Given the description of an element on the screen output the (x, y) to click on. 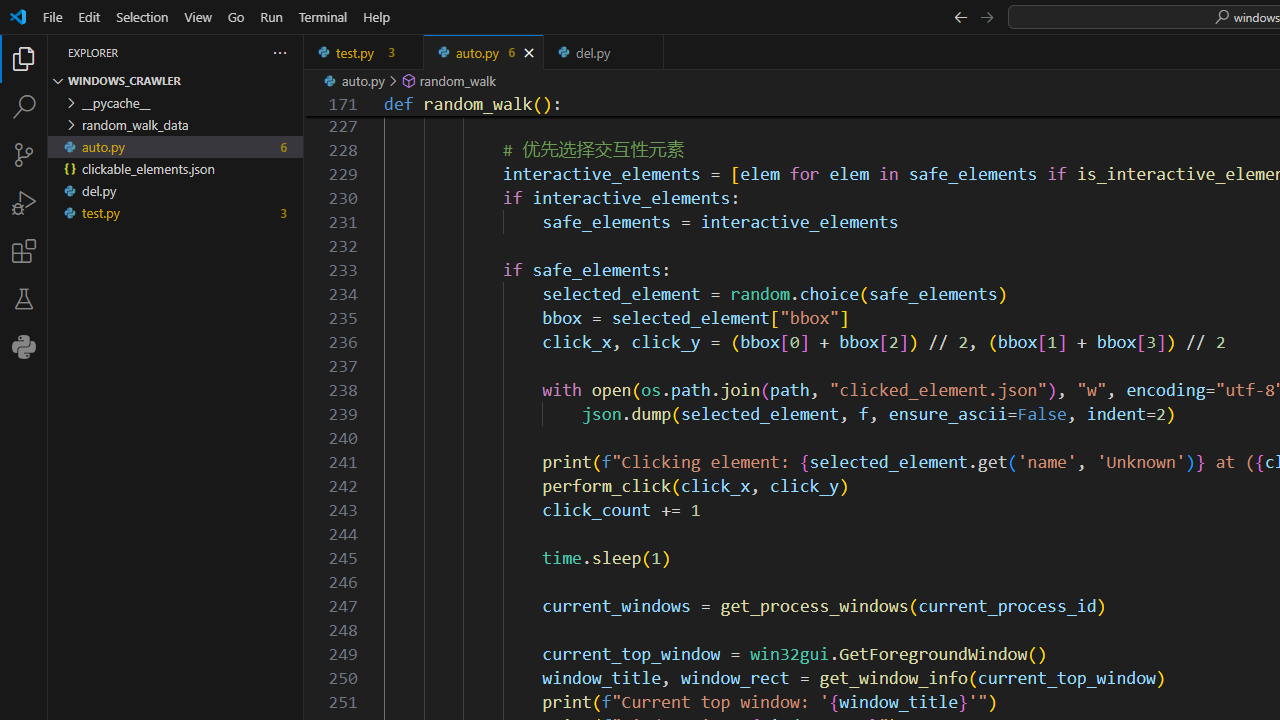
Search (Ctrl+Shift+F) (24, 106)
Extensions (Ctrl+Shift+X) (24, 250)
Tab actions (648, 52)
Go Forward (Alt+RightArrow) (986, 16)
Go Back (Alt+LeftArrow) (960, 16)
Python (24, 346)
View (198, 16)
auto.py (483, 52)
Explorer (Ctrl+Shift+E) (24, 58)
Go (235, 16)
Run and Debug (Ctrl+Shift+D) (24, 202)
Explorer actions (208, 52)
